Given the description of an element on the screen output the (x, y) to click on. 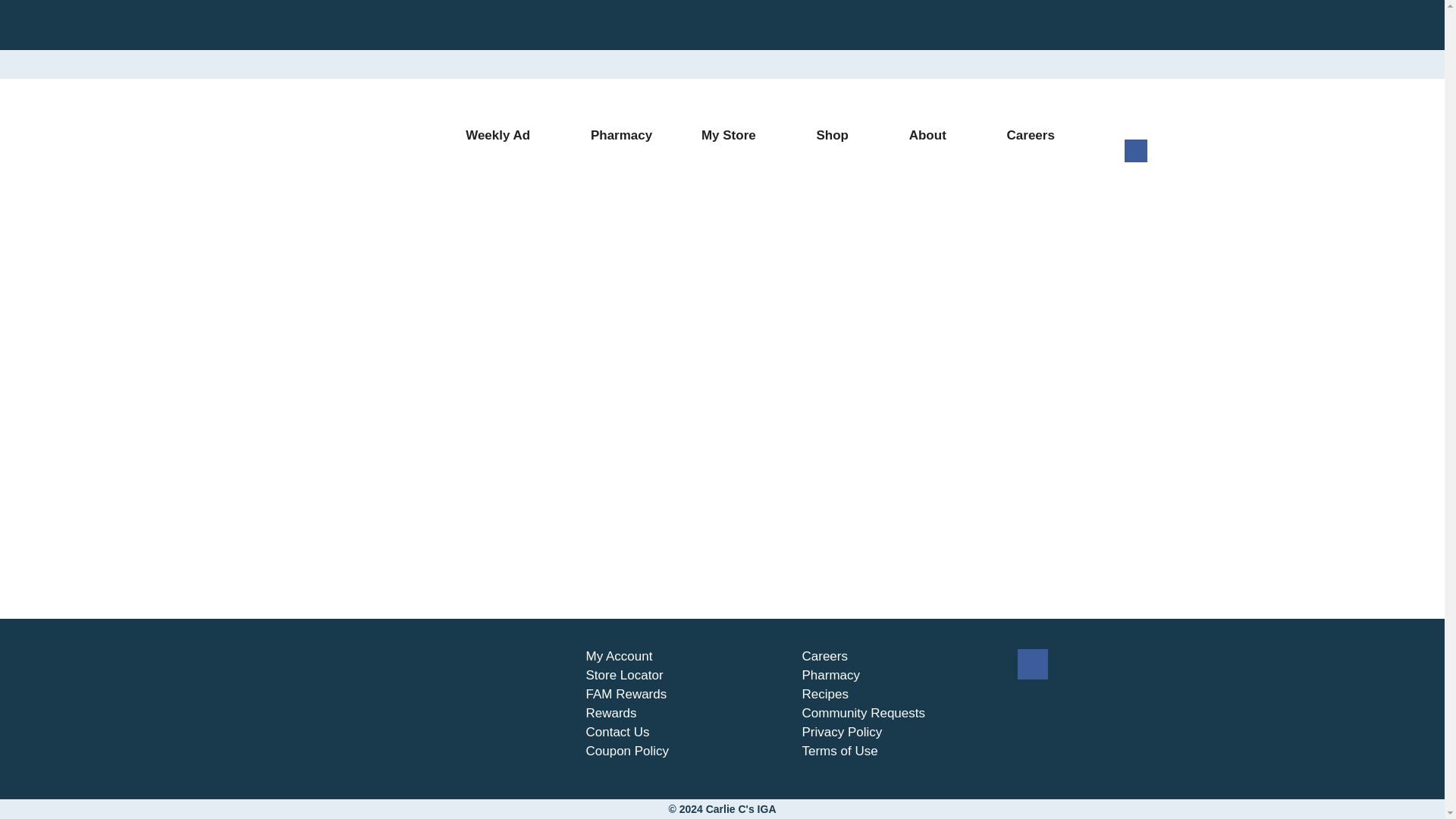
My Account (618, 656)
Facebook (1135, 157)
Contact Us (617, 732)
Store Locator (623, 675)
Rewards (610, 713)
Pharmacy (621, 135)
Careers (1030, 135)
FAM Rewards (625, 694)
Shop (837, 135)
My Store (734, 135)
About (932, 135)
Weekly Ad (503, 135)
